Given the description of an element on the screen output the (x, y) to click on. 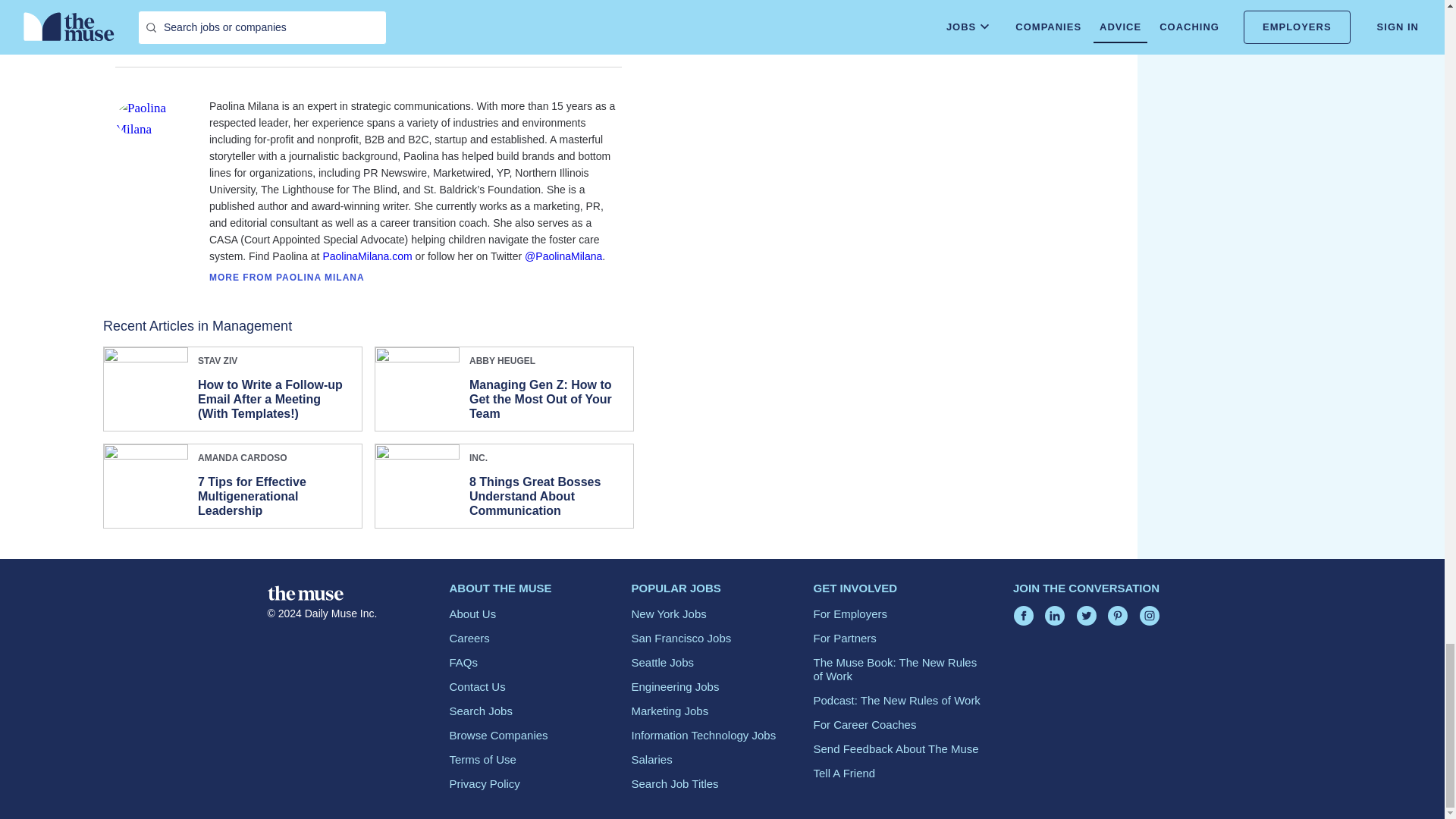
The Muse LogoA logo with "the muse" in white text. (304, 592)
